Given the description of an element on the screen output the (x, y) to click on. 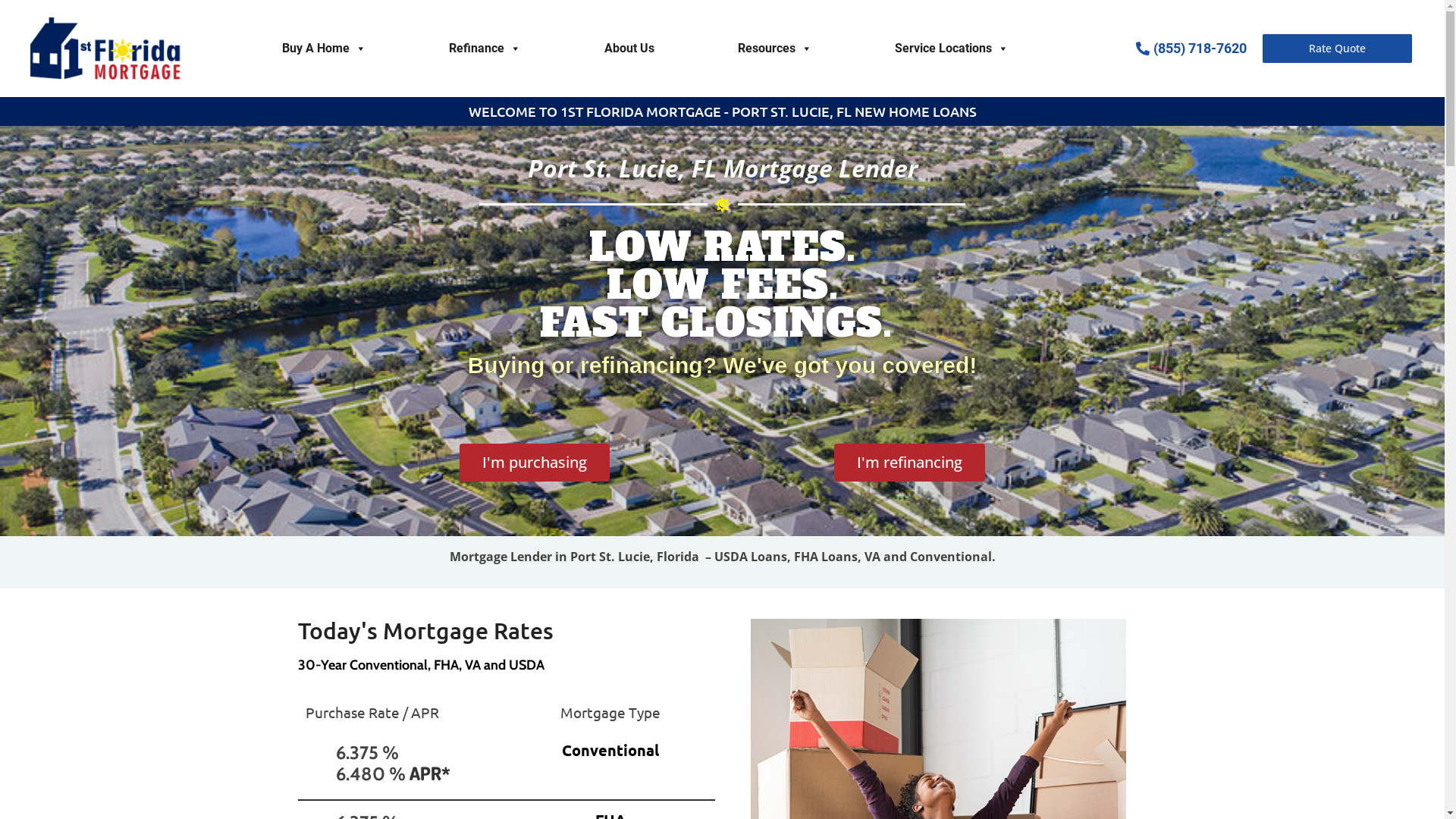
I'm purchasing Element type: text (534, 462)
Buy A Home Element type: text (323, 48)
I'm refinancing Element type: text (909, 462)
Rate Quote Element type: text (1337, 48)
About Us Element type: text (629, 48)
Refinance Element type: text (484, 48)
Resources Element type: text (774, 48)
Service Locations Element type: text (951, 48)
(855) 718-7620 Element type: text (1155, 47)
